Given the description of an element on the screen output the (x, y) to click on. 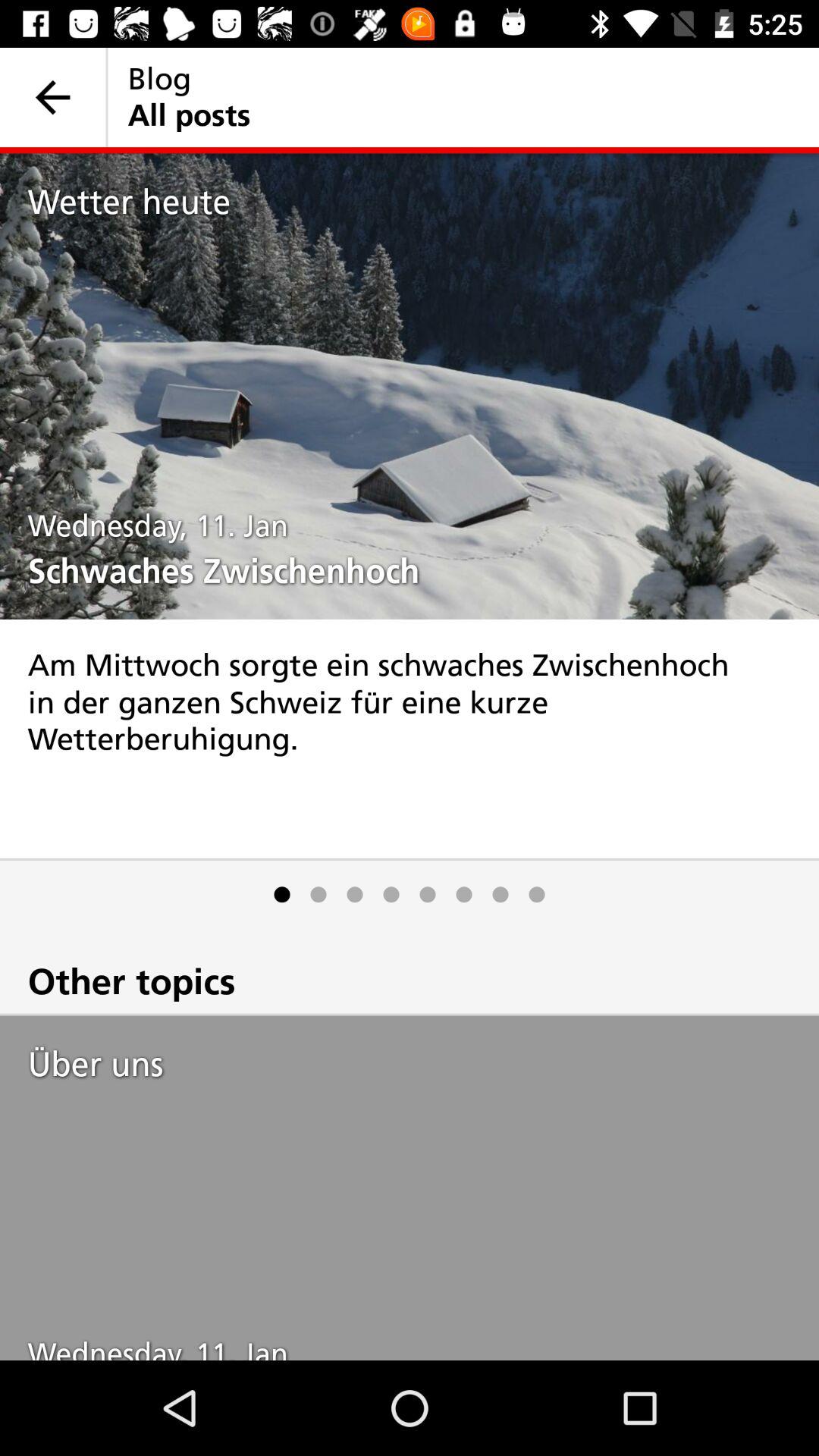
click icon below the am mittwoch sorgte icon (536, 894)
